Given the description of an element on the screen output the (x, y) to click on. 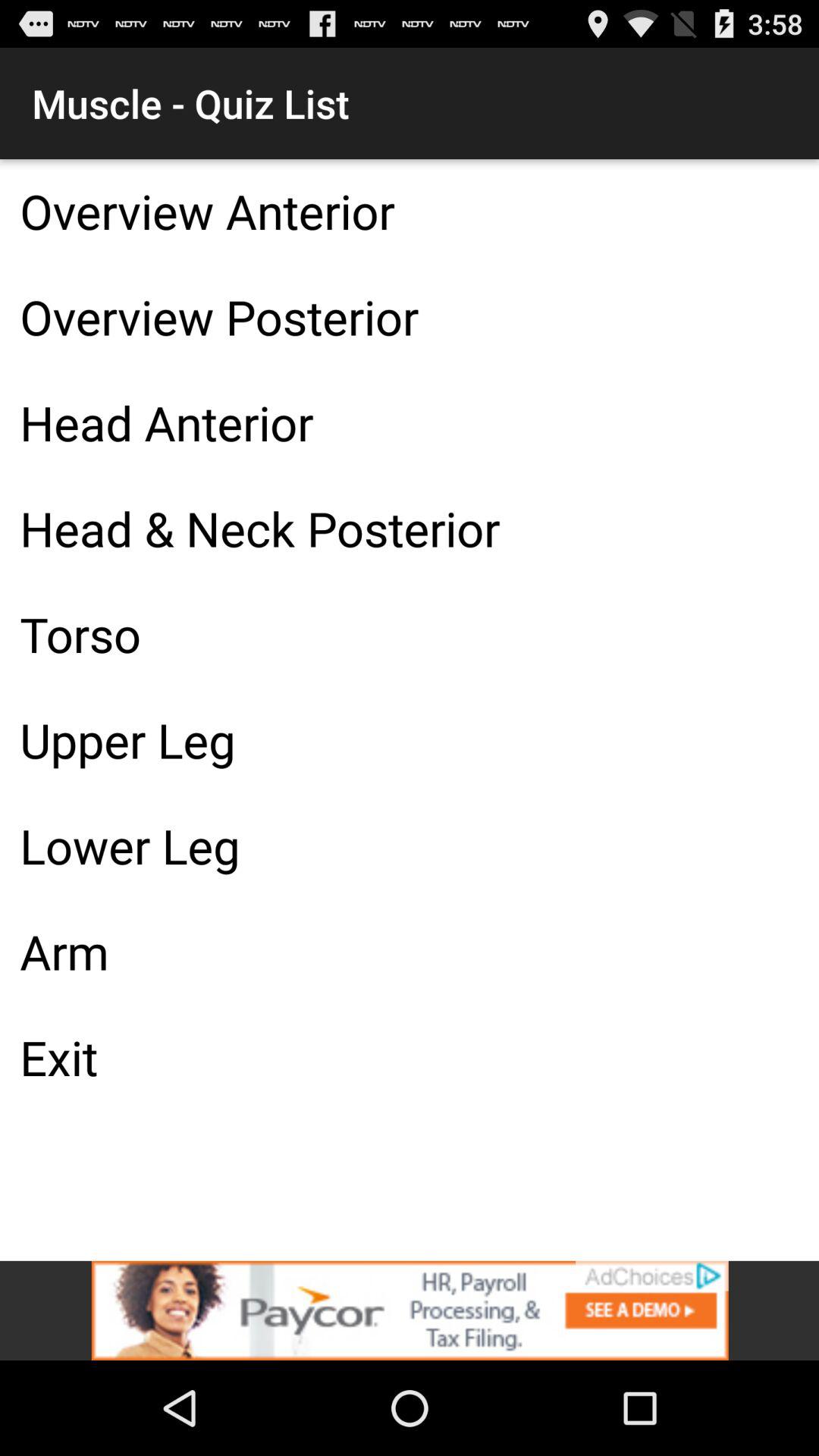
visit this advertiser page (409, 1310)
